Given the description of an element on the screen output the (x, y) to click on. 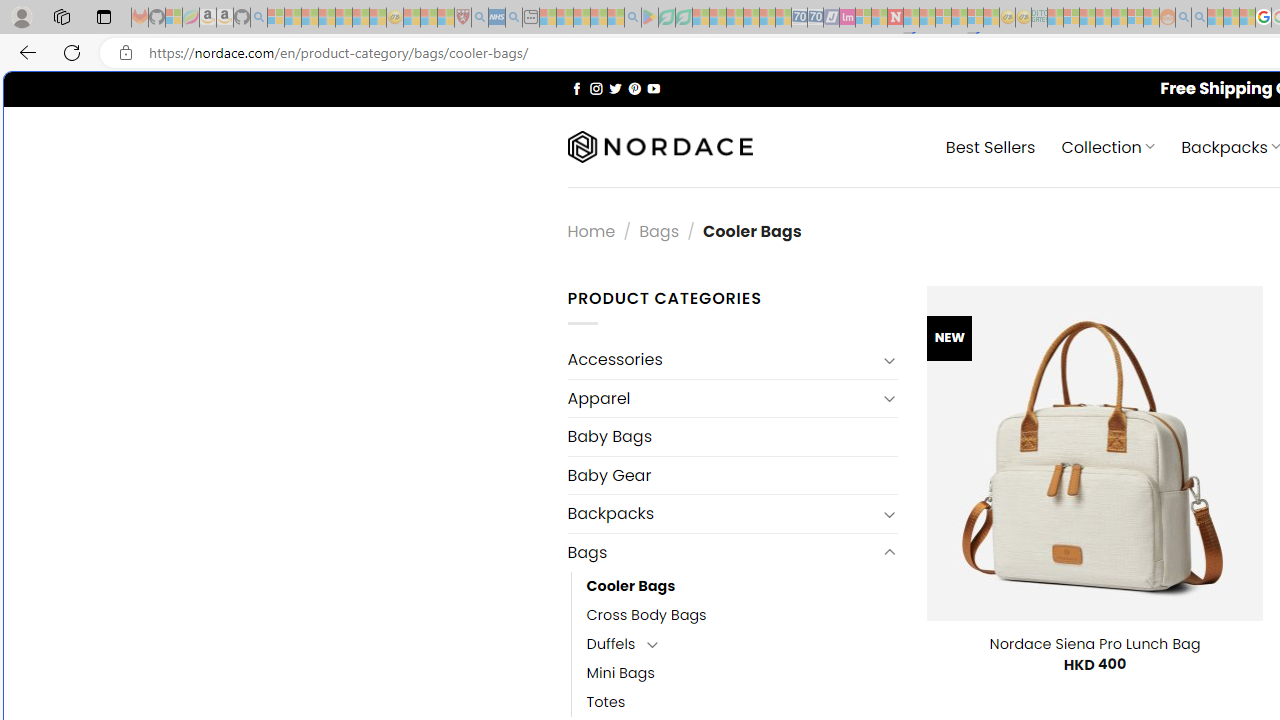
The Weather Channel - MSN - Sleeping (309, 17)
Cooler Bags (630, 585)
Follow on YouTube (653, 88)
Bluey: Let's Play! - Apps on Google Play - Sleeping (649, 17)
utah sues federal government - Search - Sleeping (513, 17)
Baby Bags (732, 436)
